Given the description of an element on the screen output the (x, y) to click on. 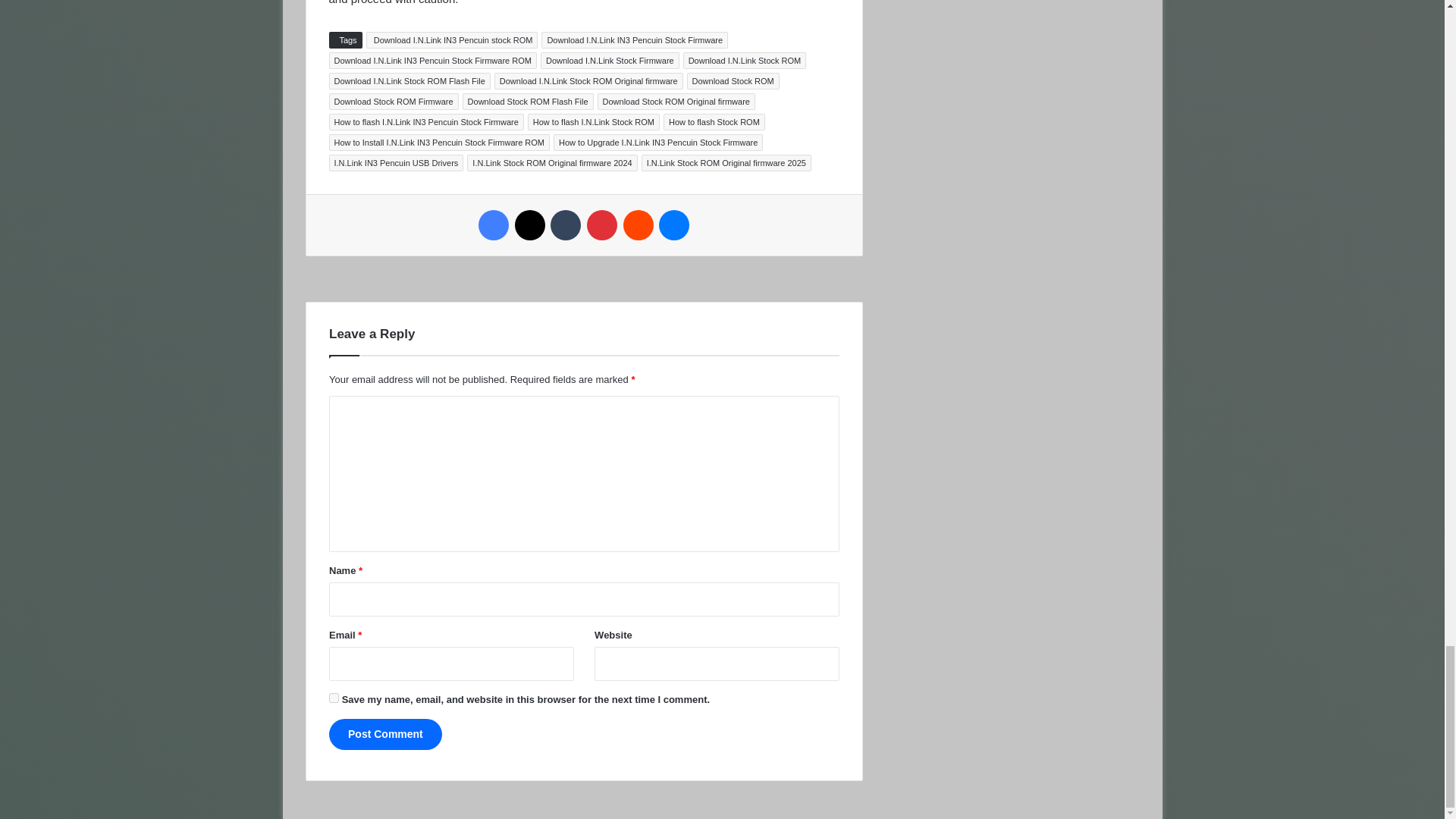
Post Comment (385, 734)
Download I.N.Link IN3 Pencuin Stock Firmware (634, 39)
Facebook (493, 224)
Reddit (638, 224)
yes (334, 697)
Pinterest (601, 224)
Tumblr (565, 224)
Messenger (673, 224)
X (529, 224)
 Download I.N.Link IN3 Pencuin stock ROM (452, 39)
